Given the description of an element on the screen output the (x, y) to click on. 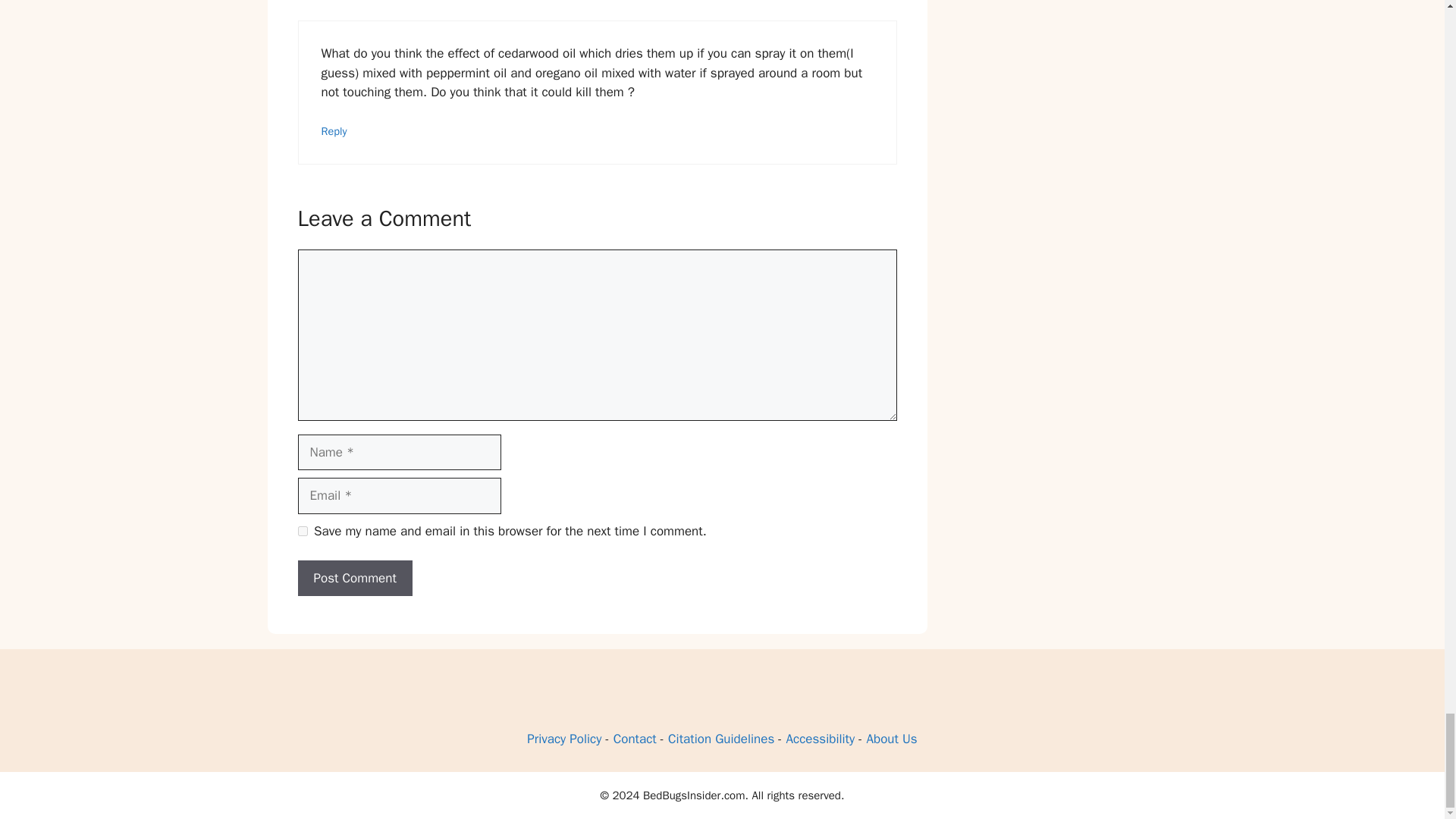
yes (302, 531)
Reply (334, 131)
Citation Guidelines (721, 738)
About Us (891, 738)
Post Comment (354, 578)
Privacy Policy (564, 738)
Accessibility (821, 738)
Post Comment (354, 578)
Contact (634, 738)
